Given the description of an element on the screen output the (x, y) to click on. 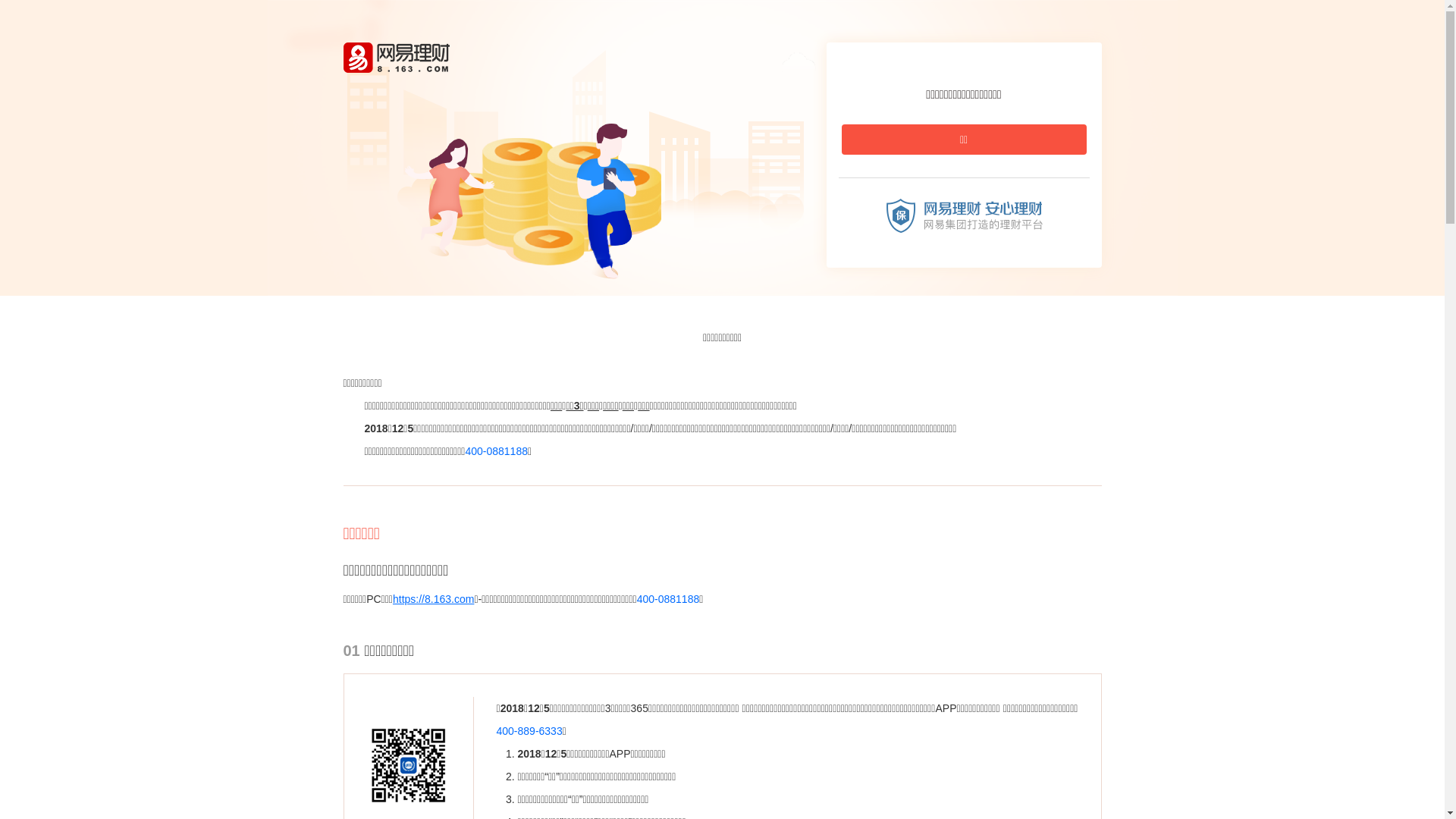
400-889-6333 Element type: text (528, 730)
400-0881188 Element type: text (668, 599)
400-0881188 Element type: text (495, 451)
https://8.163.com Element type: text (432, 599)
